Given the description of an element on the screen output the (x, y) to click on. 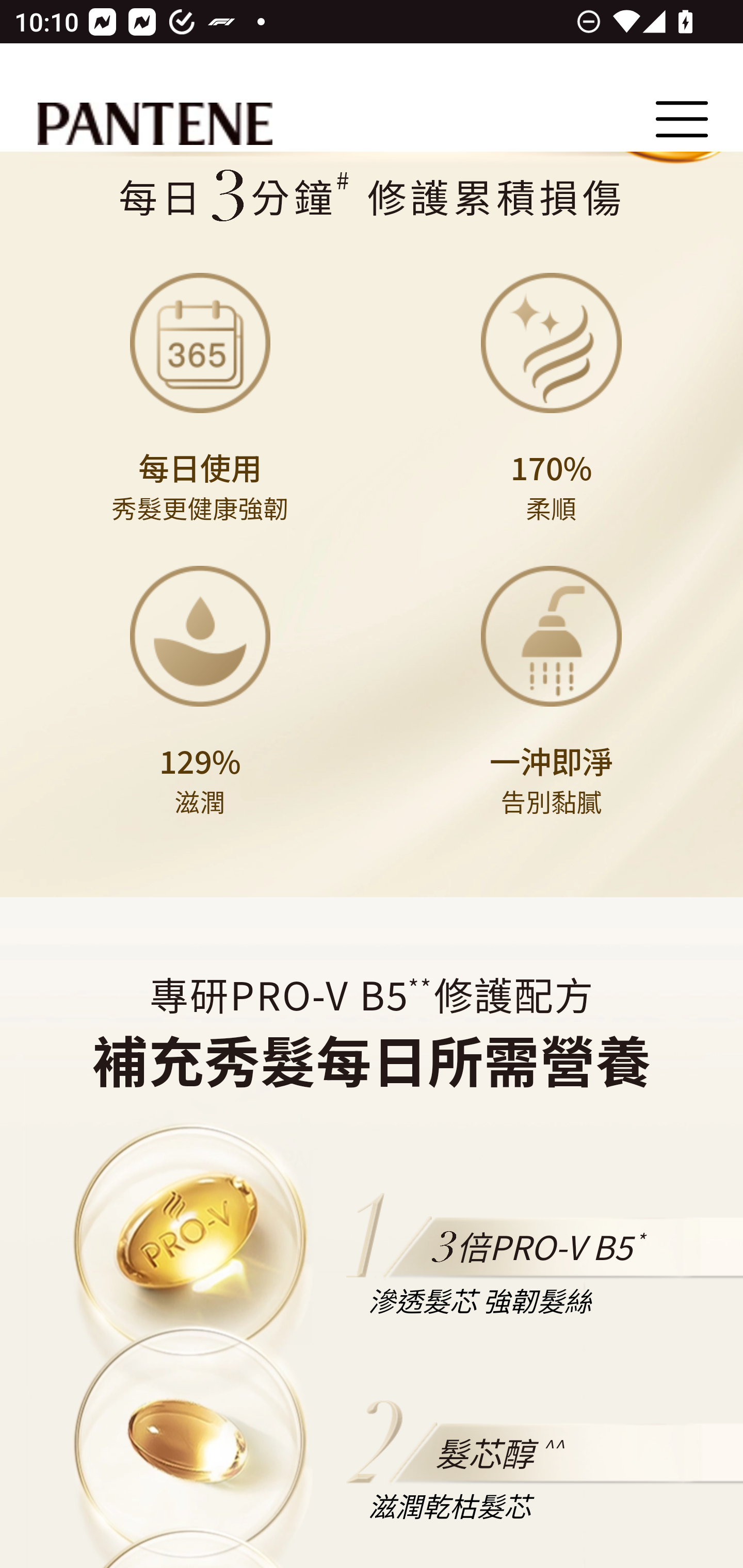
pantene 潘婷 PANTENE logo pantene 潘婷 PANTENE logo (155, 125)
髮質檢測分析 (371, 196)
